Given the description of an element on the screen output the (x, y) to click on. 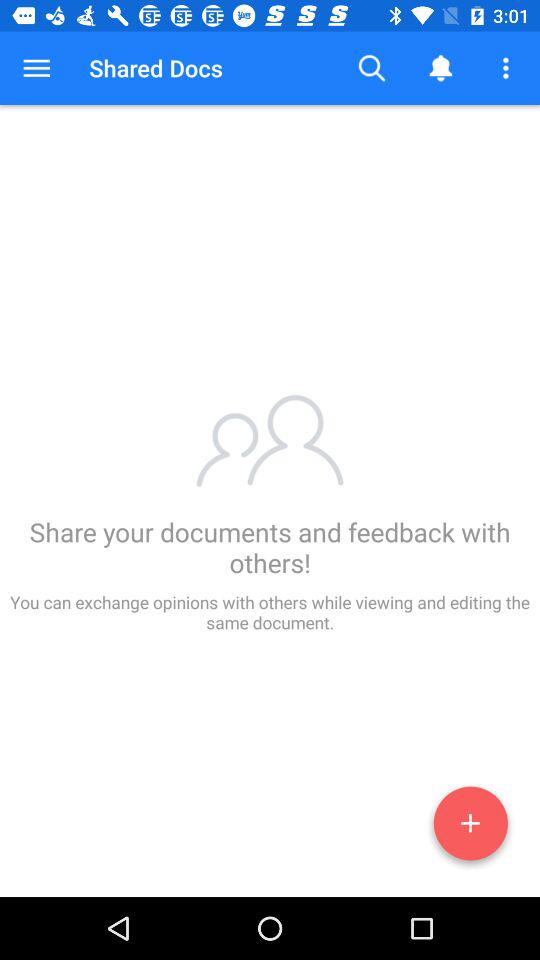
select the button to the left of shared docs button (36, 68)
